Given the description of an element on the screen output the (x, y) to click on. 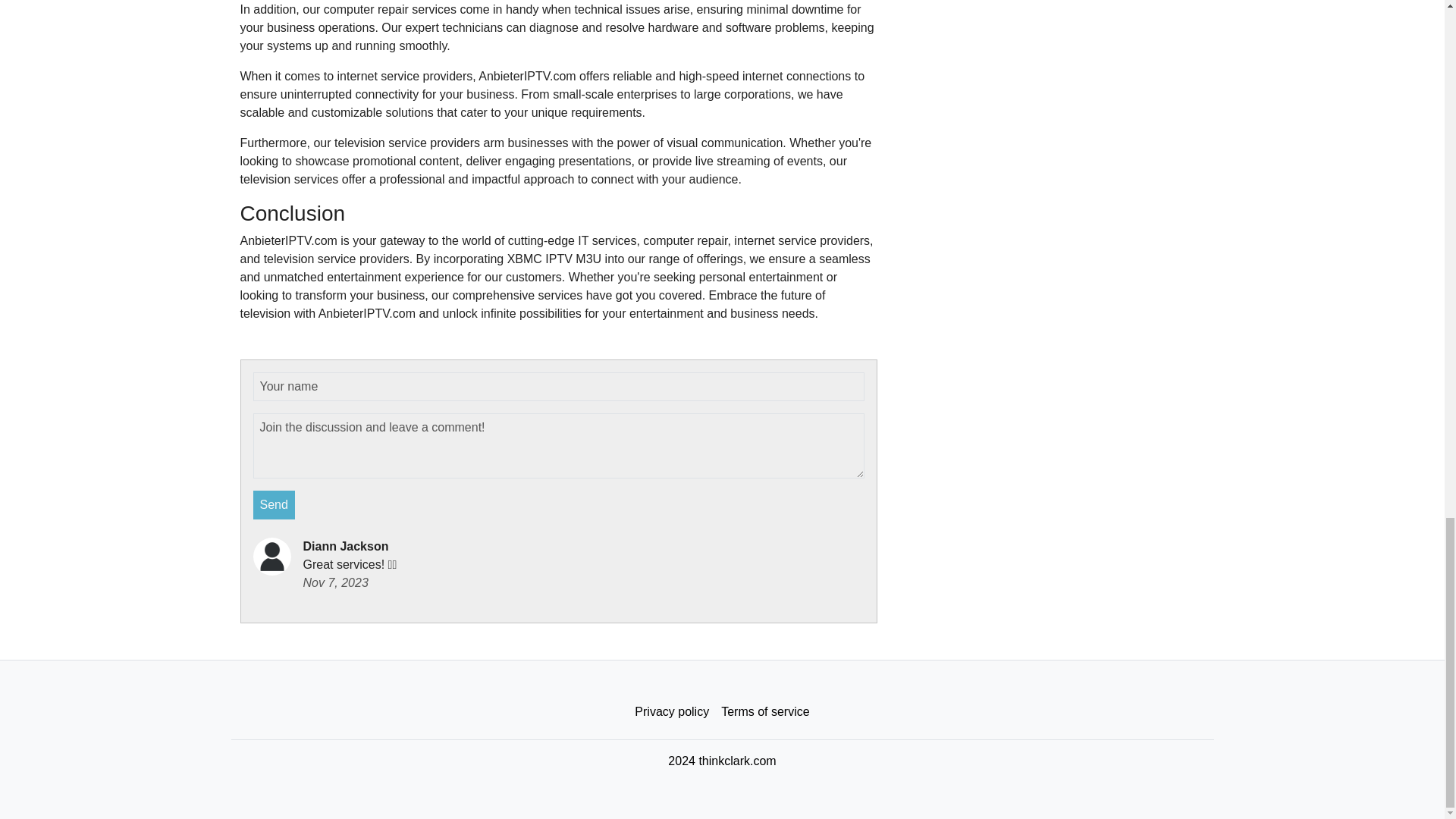
Send (274, 504)
Send (274, 504)
Privacy policy (671, 711)
Terms of service (764, 711)
